Given the description of an element on the screen output the (x, y) to click on. 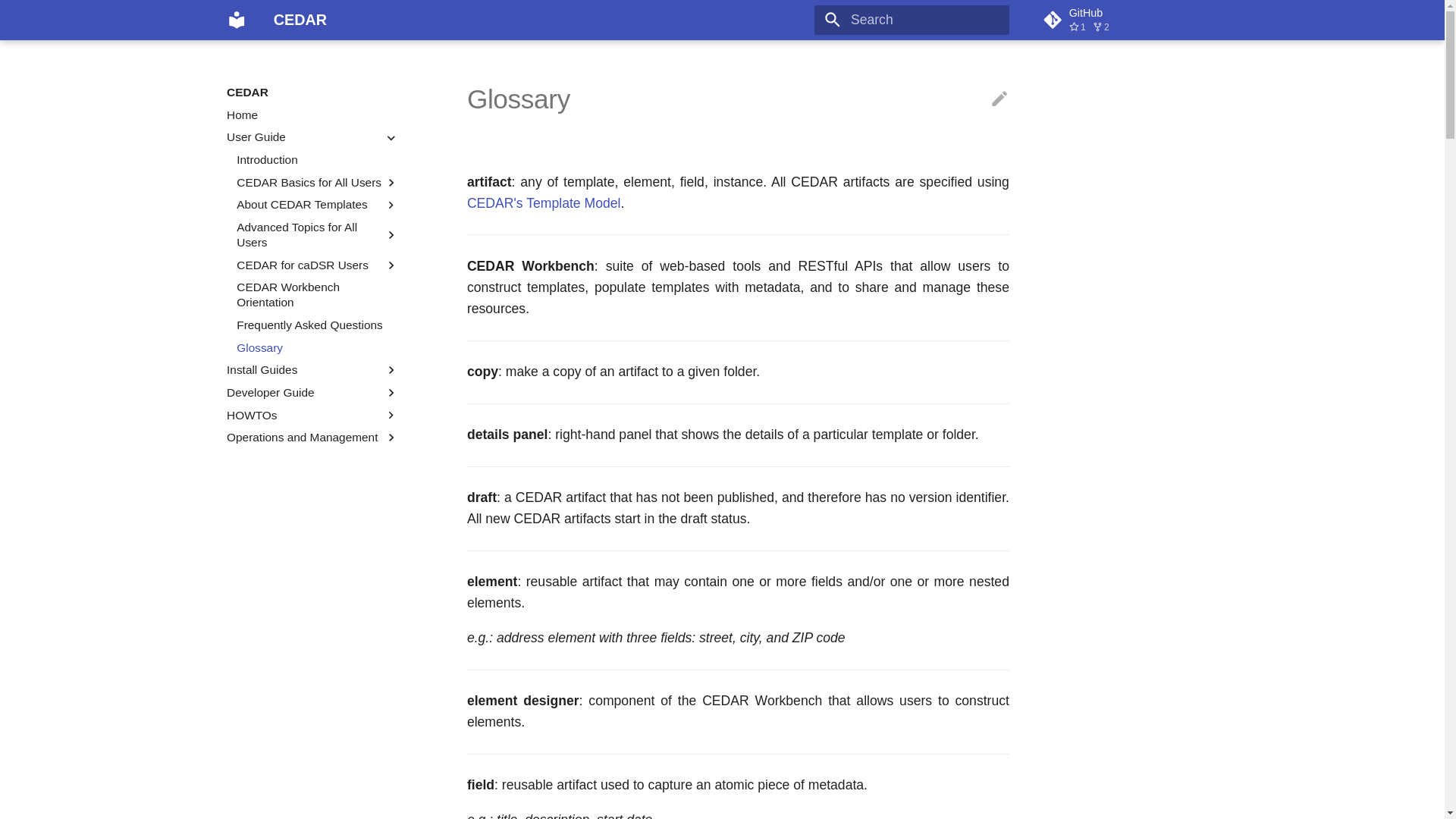
CEDAR (236, 19)
Introduction (316, 159)
Home (312, 114)
Edit this page (1129, 20)
Go to repository (999, 98)
